Given the description of an element on the screen output the (x, y) to click on. 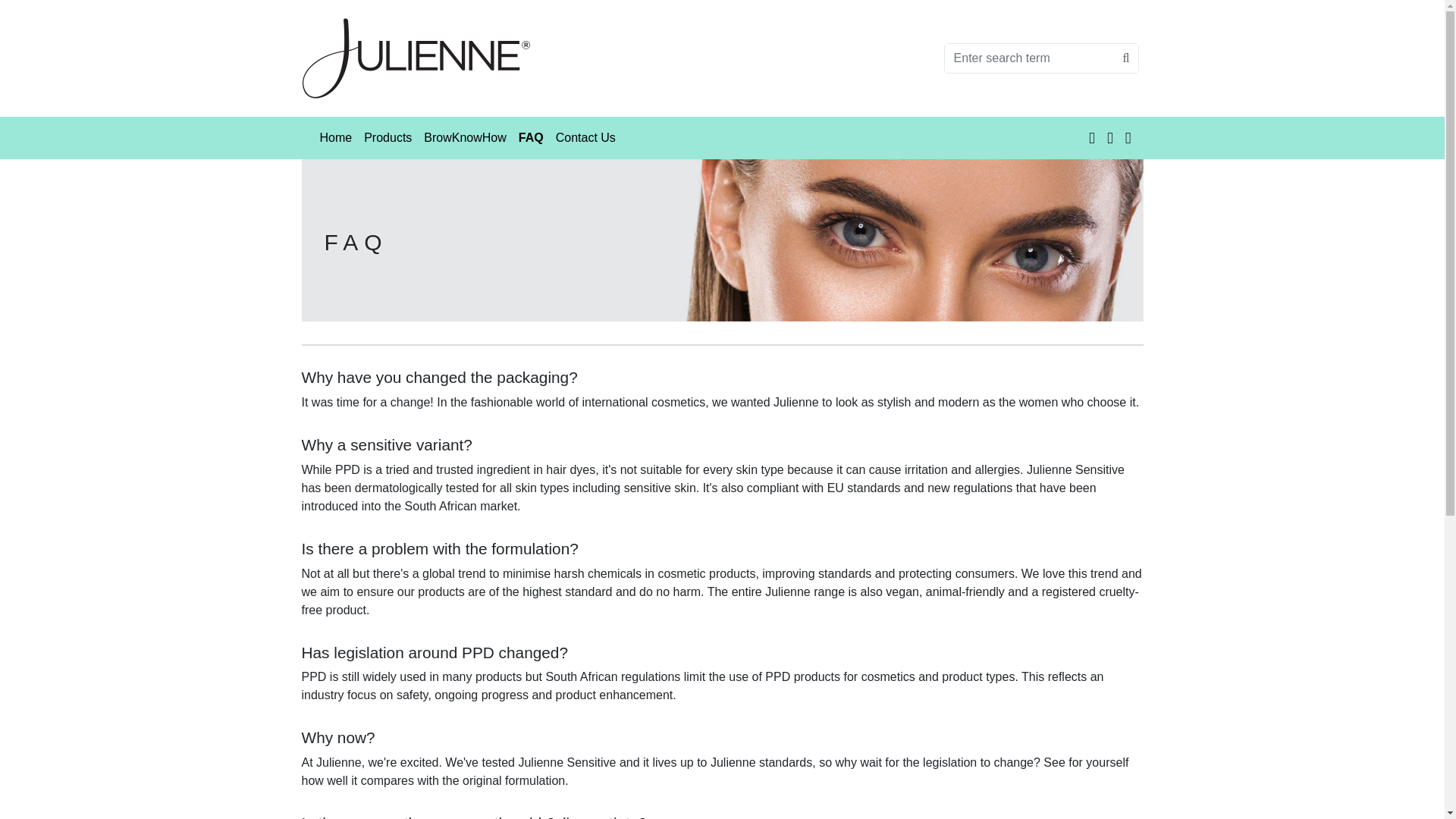
Home (336, 137)
BrowKnowHow (464, 137)
Products (387, 137)
FAQ (531, 137)
Contact Us (585, 137)
